Given the description of an element on the screen output the (x, y) to click on. 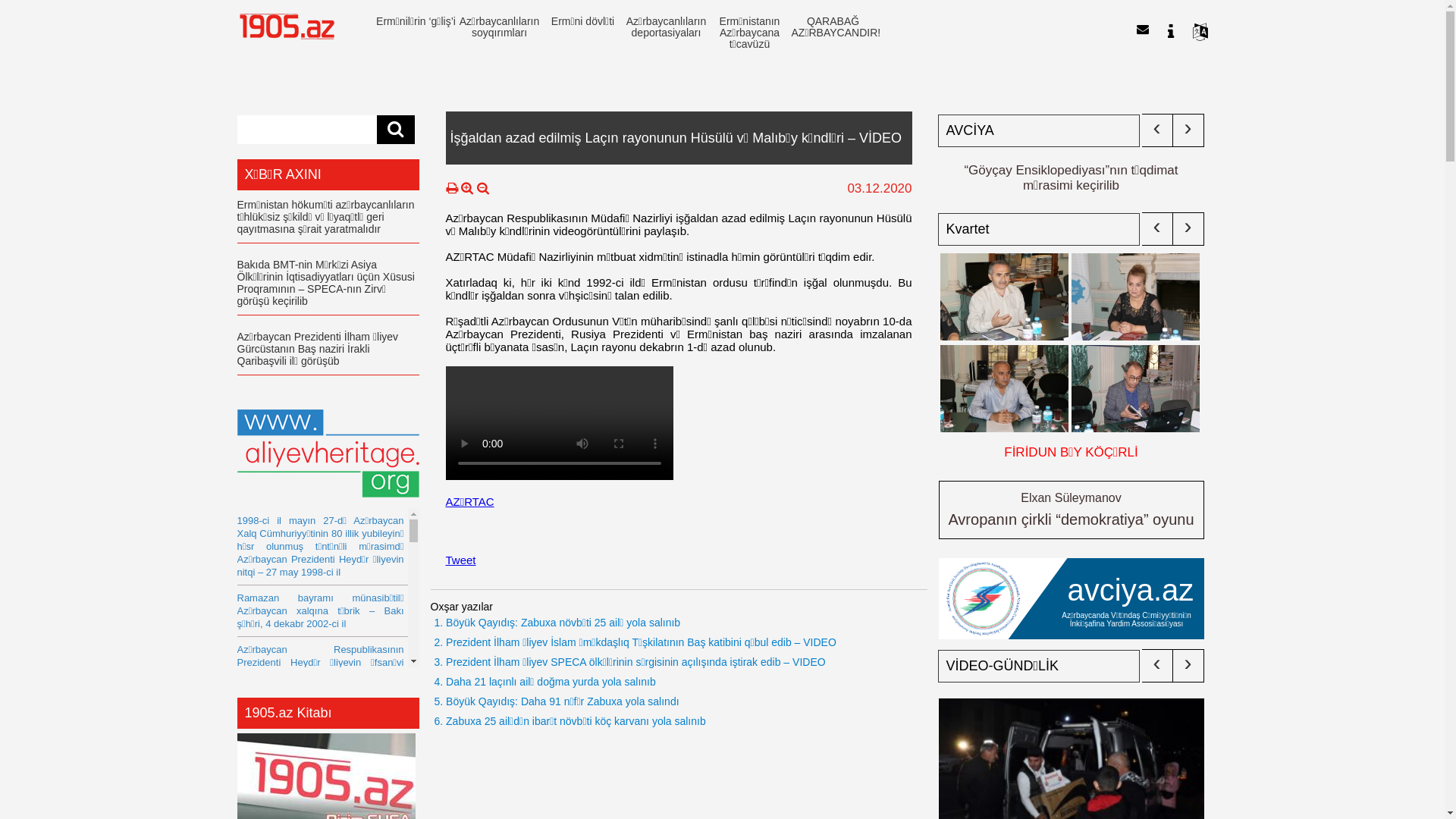
Tweet Element type: text (460, 559)
Kvartet Element type: text (1038, 228)
